Given the description of an element on the screen output the (x, y) to click on. 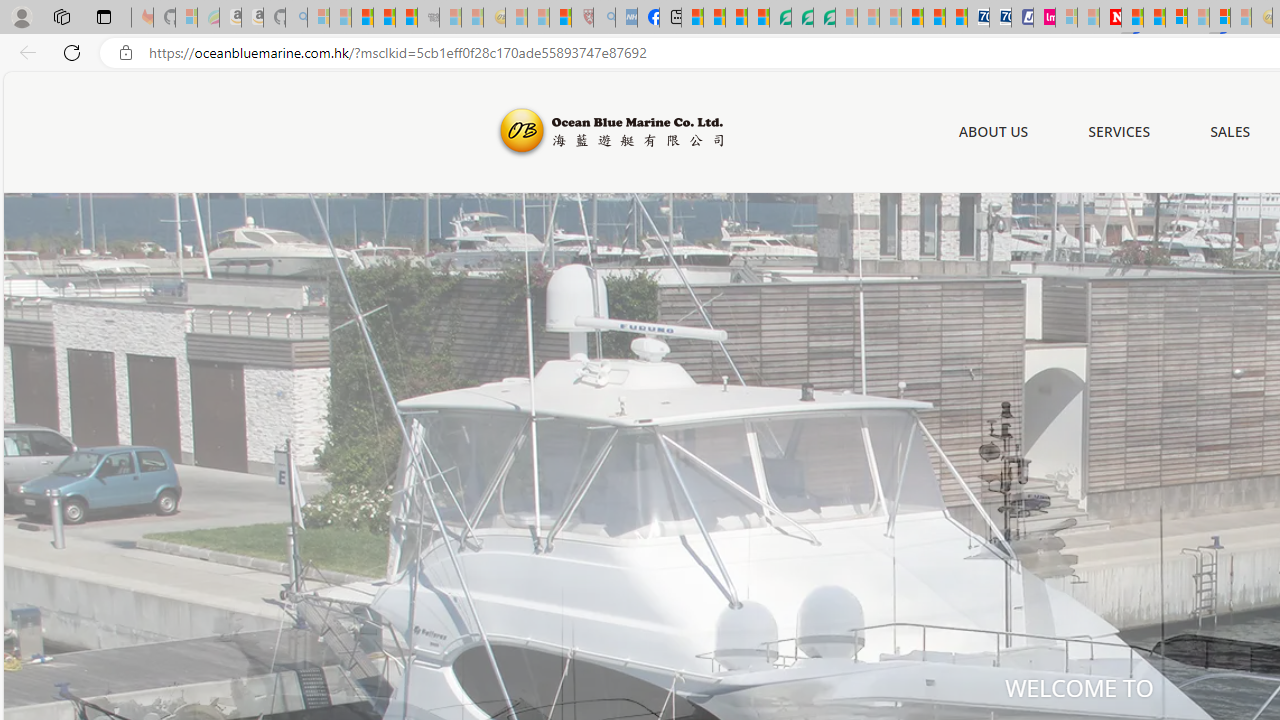
Terms of Use Agreement (802, 17)
LendingTree - Compare Lenders (780, 17)
Latest Politics News & Archive | Newsweek.com (1110, 17)
